Given the description of an element on the screen output the (x, y) to click on. 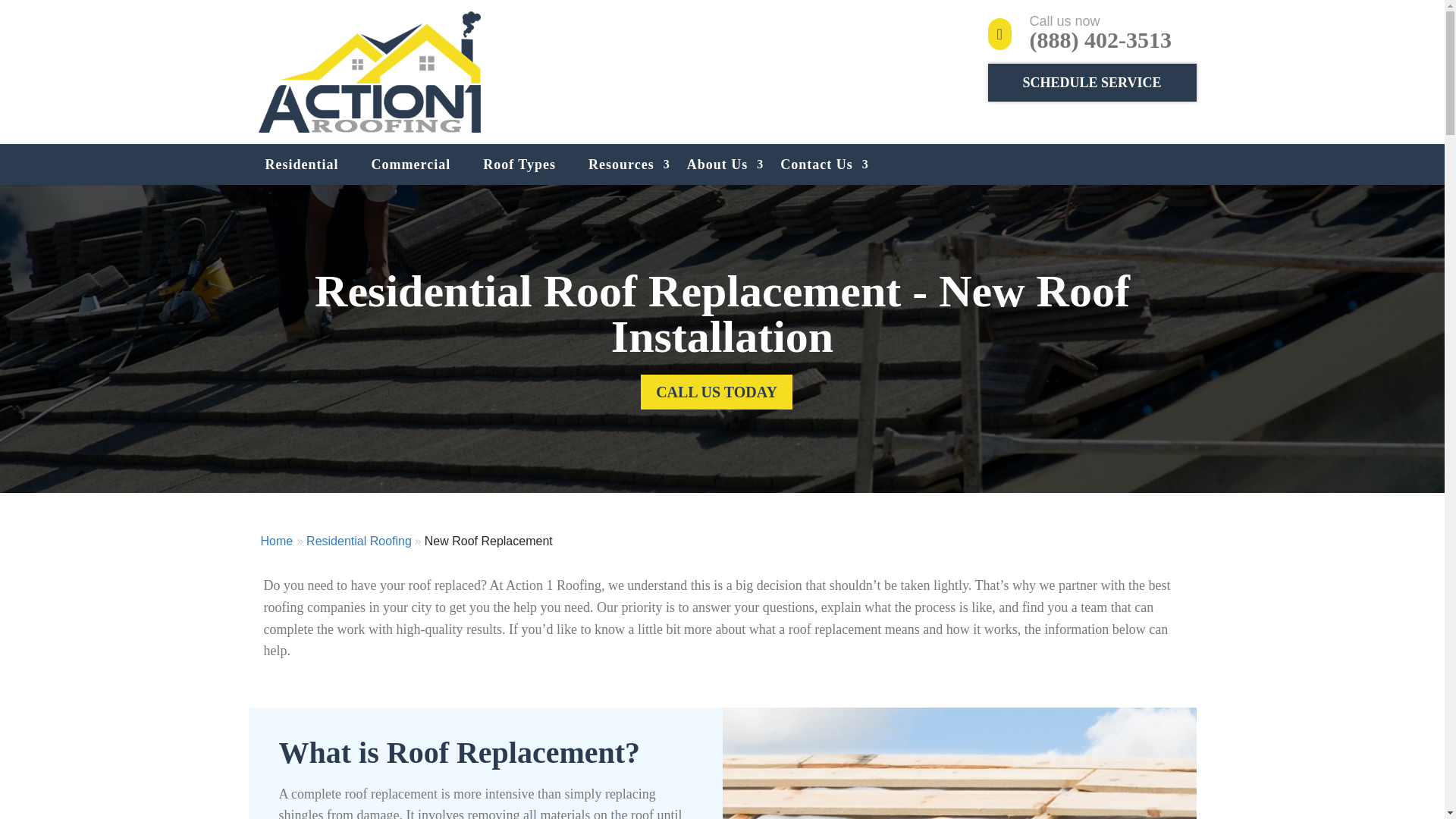
CALL US TODAY (716, 391)
About Us (716, 164)
SCHEDULE SERVICE (1092, 82)
New Roof Replacement (489, 540)
Residential Roofing (358, 540)
Commercial (411, 164)
Contact Us (815, 164)
Home (277, 540)
Resources (620, 164)
Roof Types (518, 164)
